Given the description of an element on the screen output the (x, y) to click on. 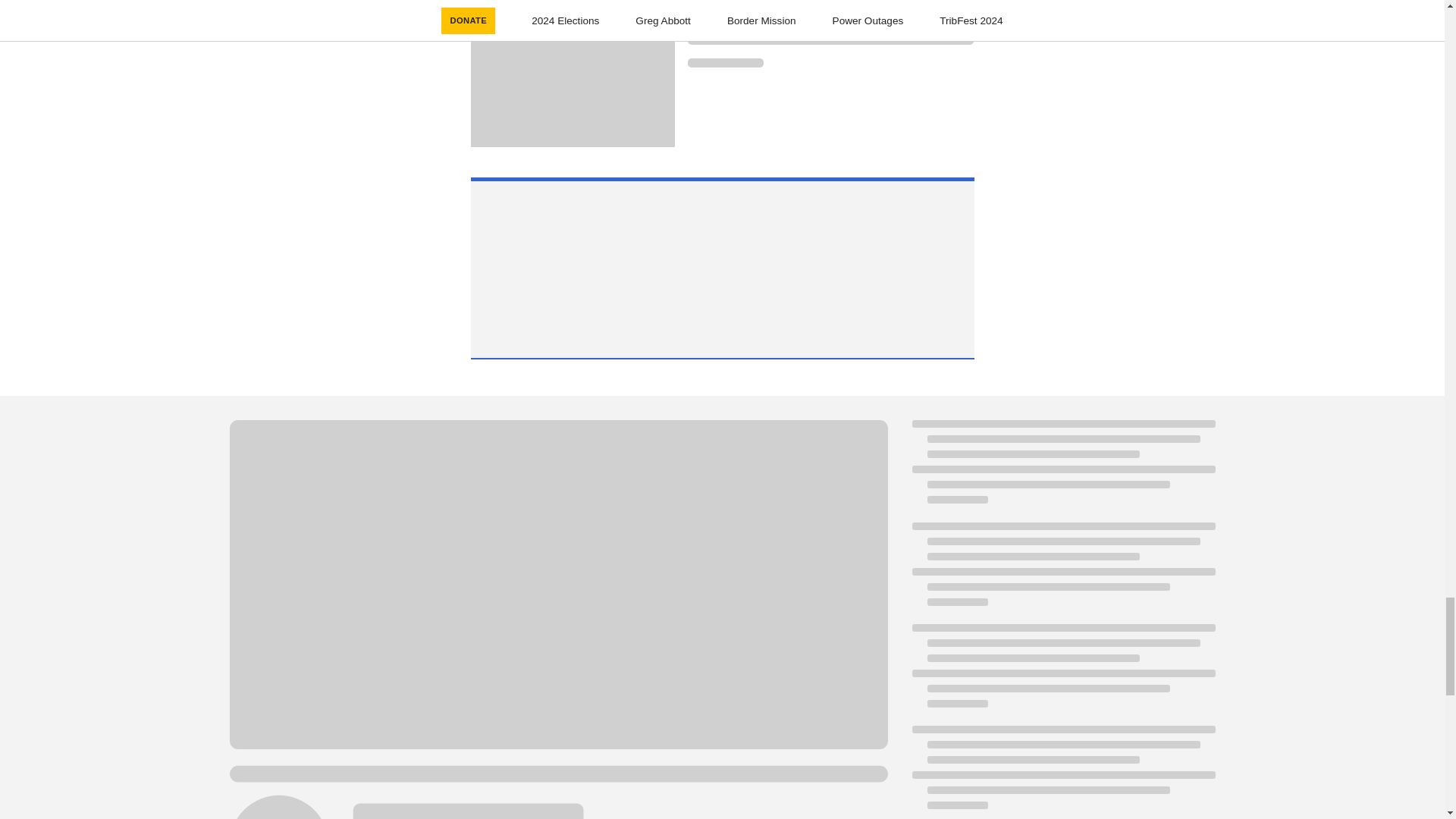
Loading indicator (724, 62)
Loading indicator (830, 16)
Loading indicator (830, 38)
